Given the description of an element on the screen output the (x, y) to click on. 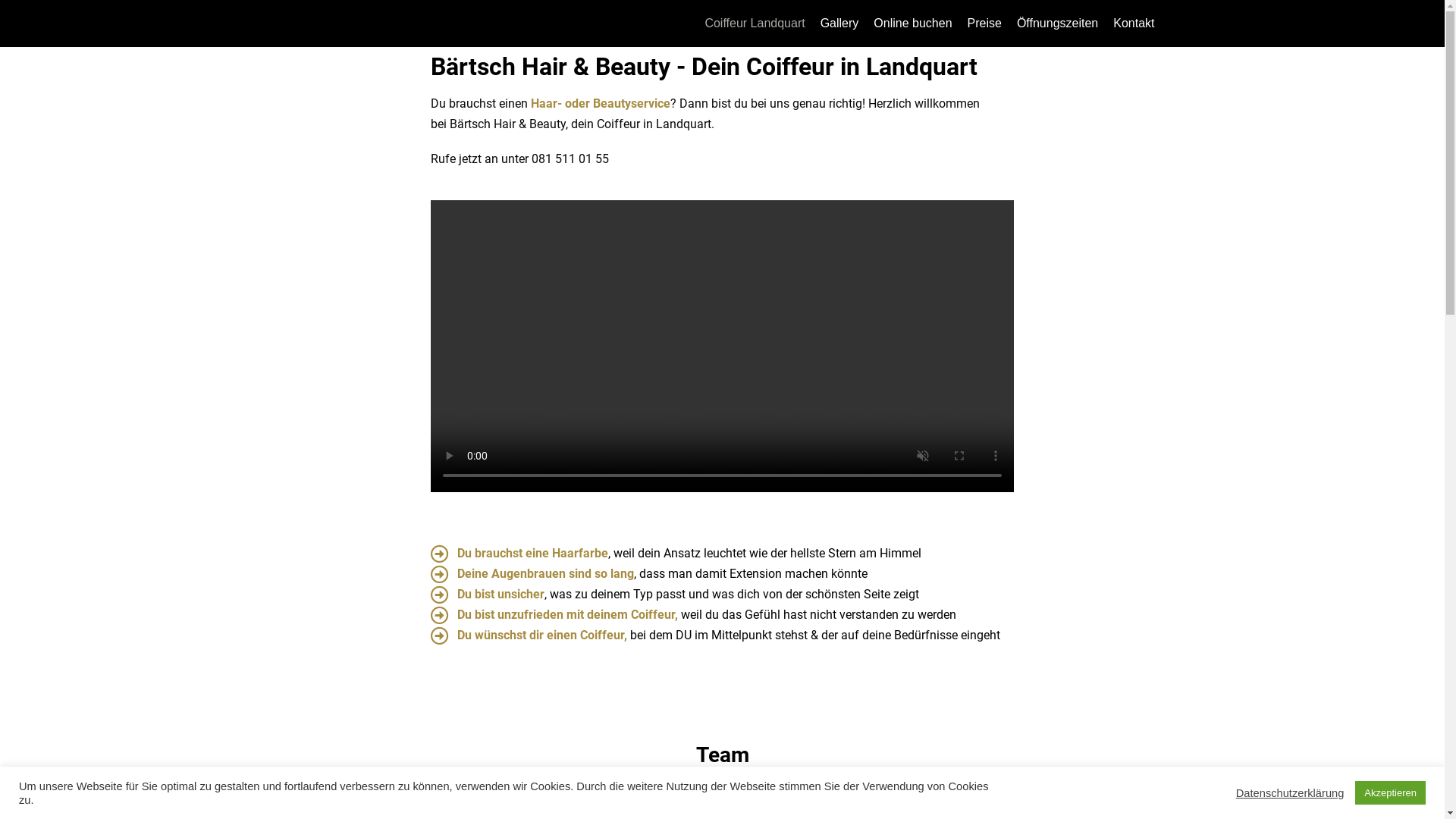
Gallery Element type: text (839, 23)
Zum Inhalt springen Element type: text (15, 7)
Akzeptieren Element type: text (1390, 792)
Preise Element type: text (984, 23)
Kontakt Element type: text (1133, 23)
Online buchen Element type: text (912, 23)
Coiffeur Landquart Element type: text (754, 23)
